Given the description of an element on the screen output the (x, y) to click on. 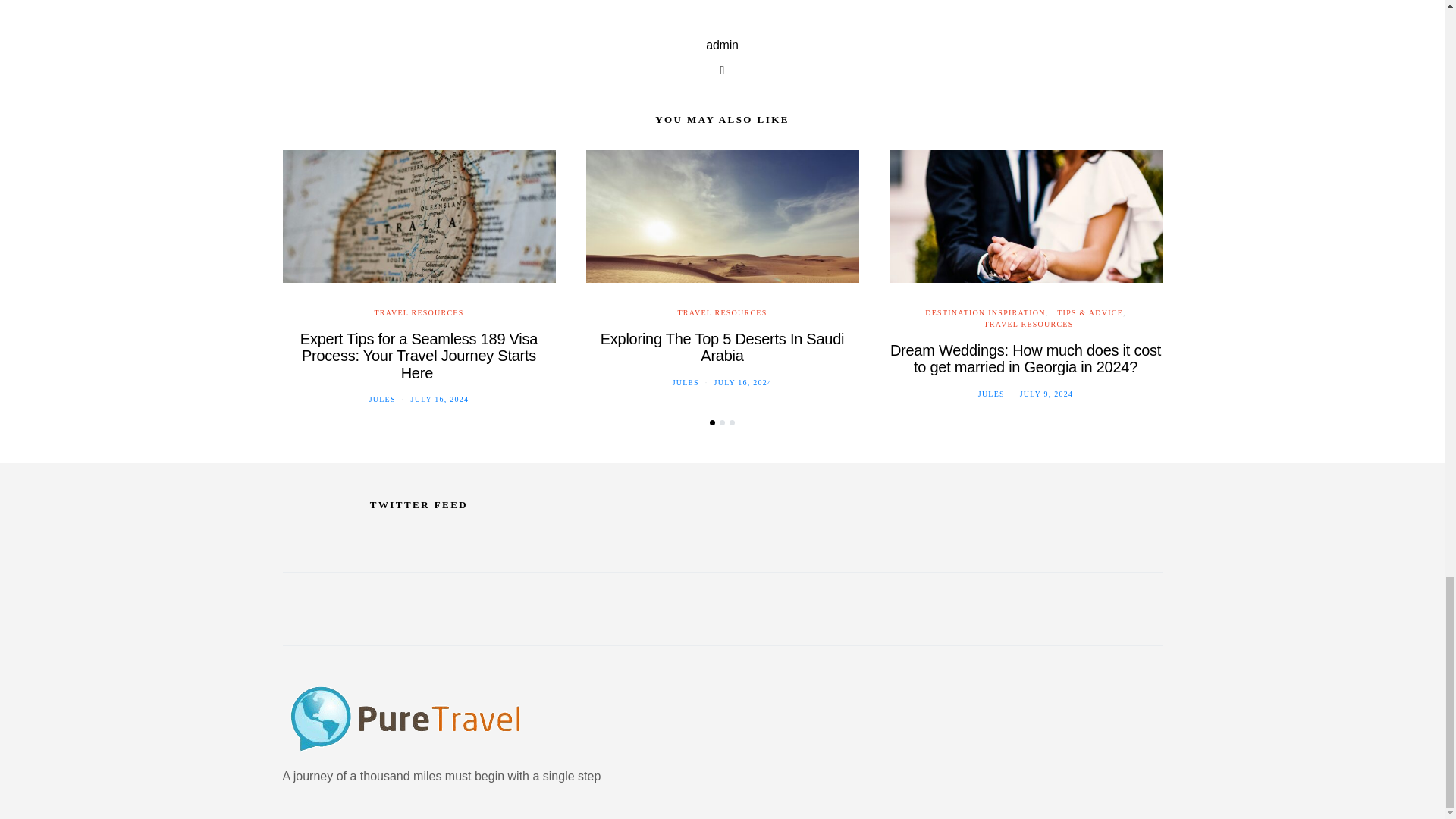
View all posts by Jules (991, 393)
View all posts by Jules (685, 382)
View all posts by Jules (382, 398)
